Given the description of an element on the screen output the (x, y) to click on. 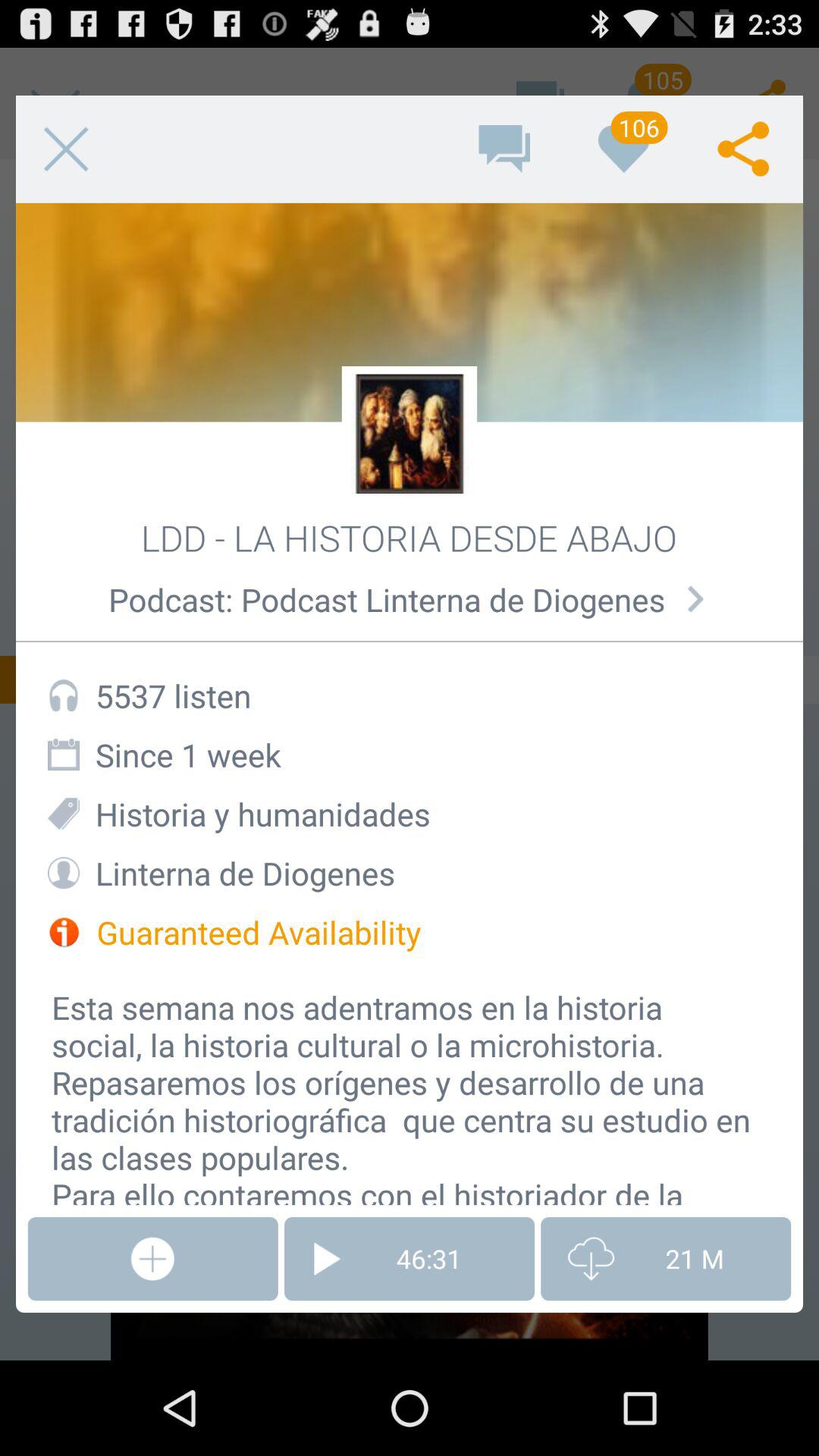
open item next to the 21 m icon (409, 1258)
